Given the description of an element on the screen output the (x, y) to click on. 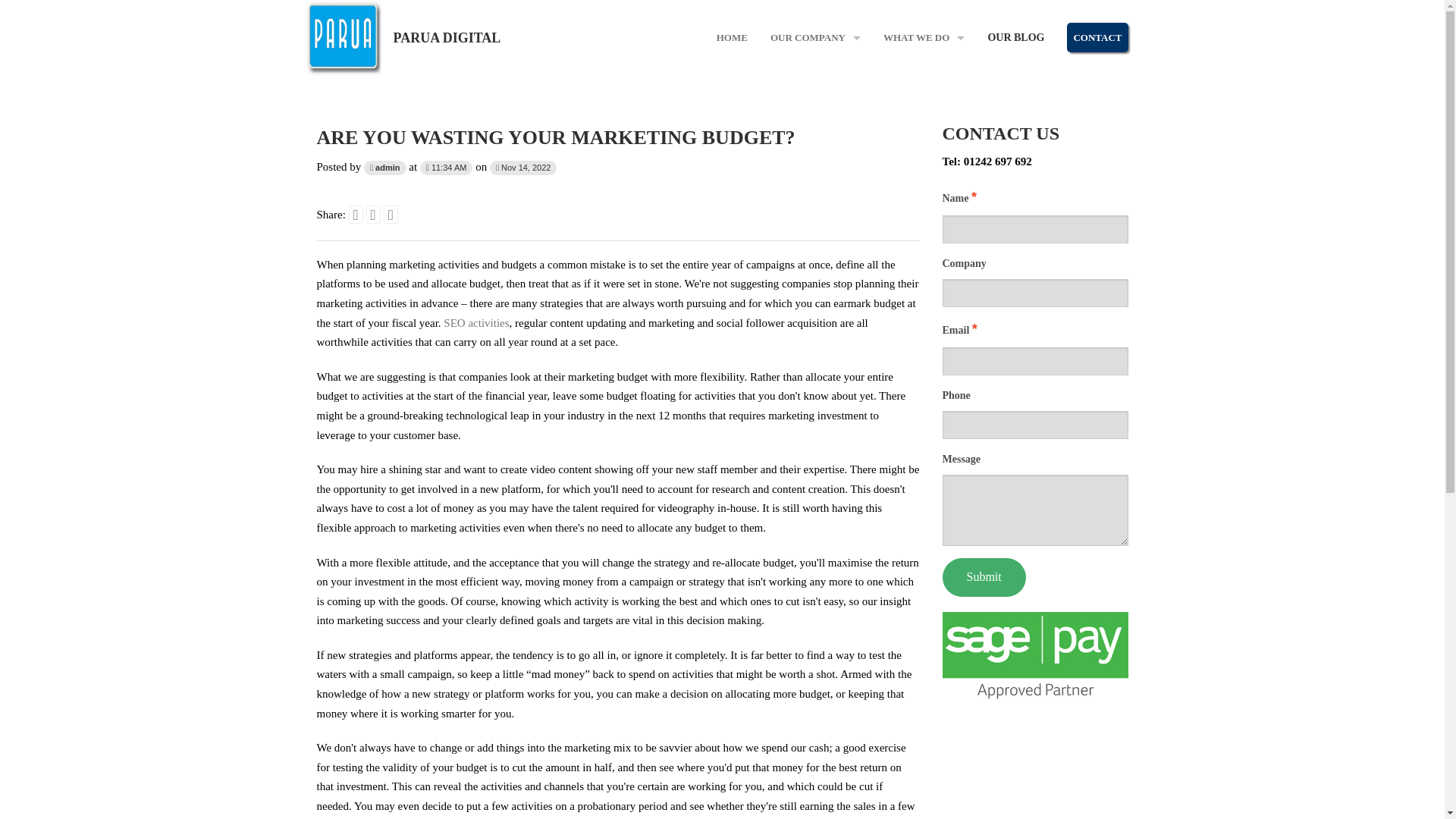
FAQ (815, 126)
Local Marketing (923, 331)
PPC (923, 195)
Submit (983, 577)
OUR BLOG (1015, 38)
CONTACT (1096, 38)
Mobile Software Development (923, 92)
Industries (815, 161)
OUR COMPANY (815, 38)
White Labelling (923, 263)
